Given the description of an element on the screen output the (x, y) to click on. 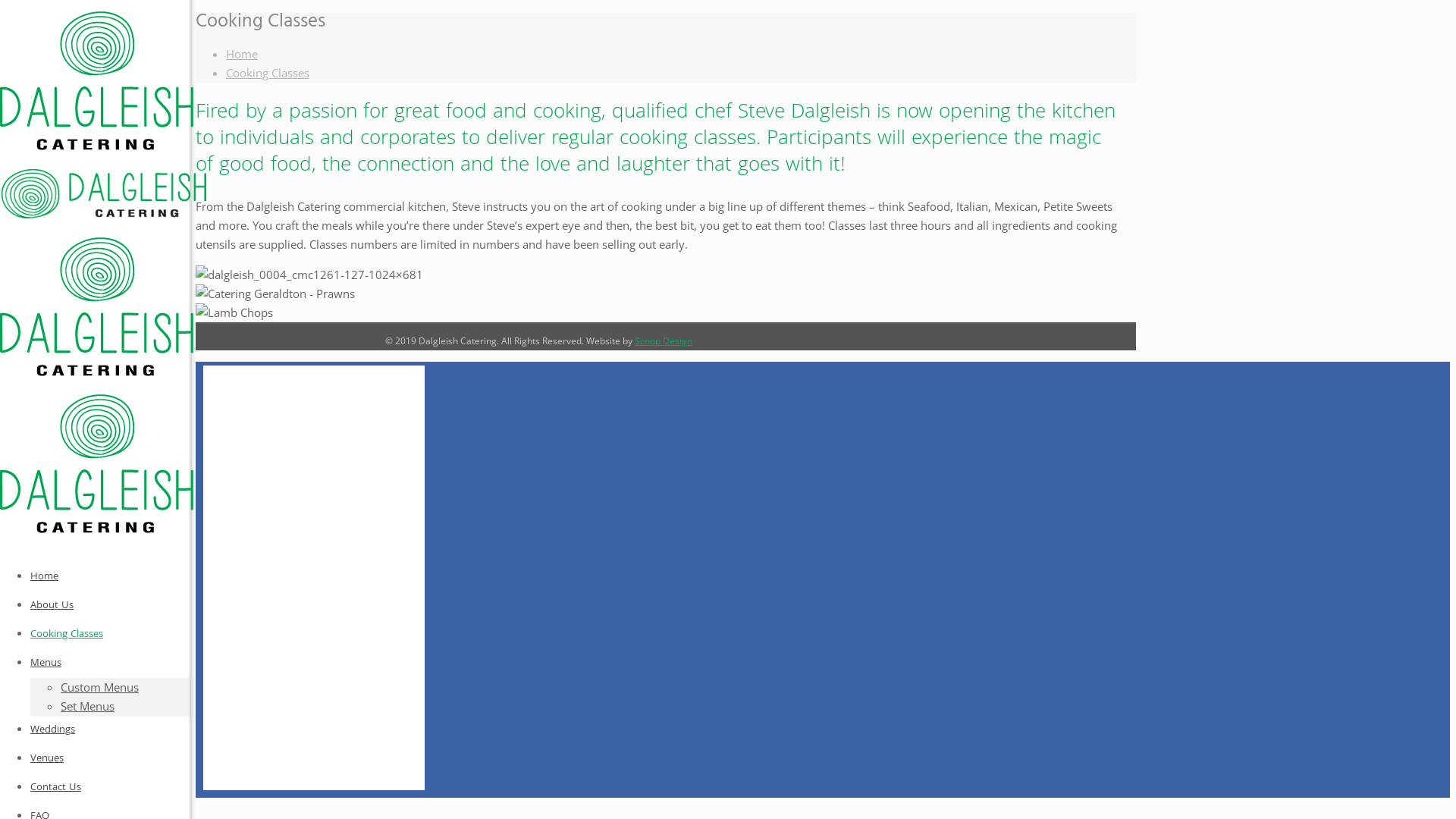
Menus Element type: text (45, 663)
Venues Element type: text (46, 758)
Custom Menus Element type: text (99, 686)
Weddings Element type: text (52, 729)
Contact Us Element type: text (55, 787)
Scoop Design Element type: text (663, 340)
Cooking Classes Element type: text (267, 72)
Cooking Classes Element type: text (66, 634)
Home Element type: text (44, 576)
Home Element type: text (241, 52)
Set Menus Element type: text (87, 705)
Dalgleish Catering Element type: hover (104, 336)
About Us Element type: text (51, 605)
